Given the description of an element on the screen output the (x, y) to click on. 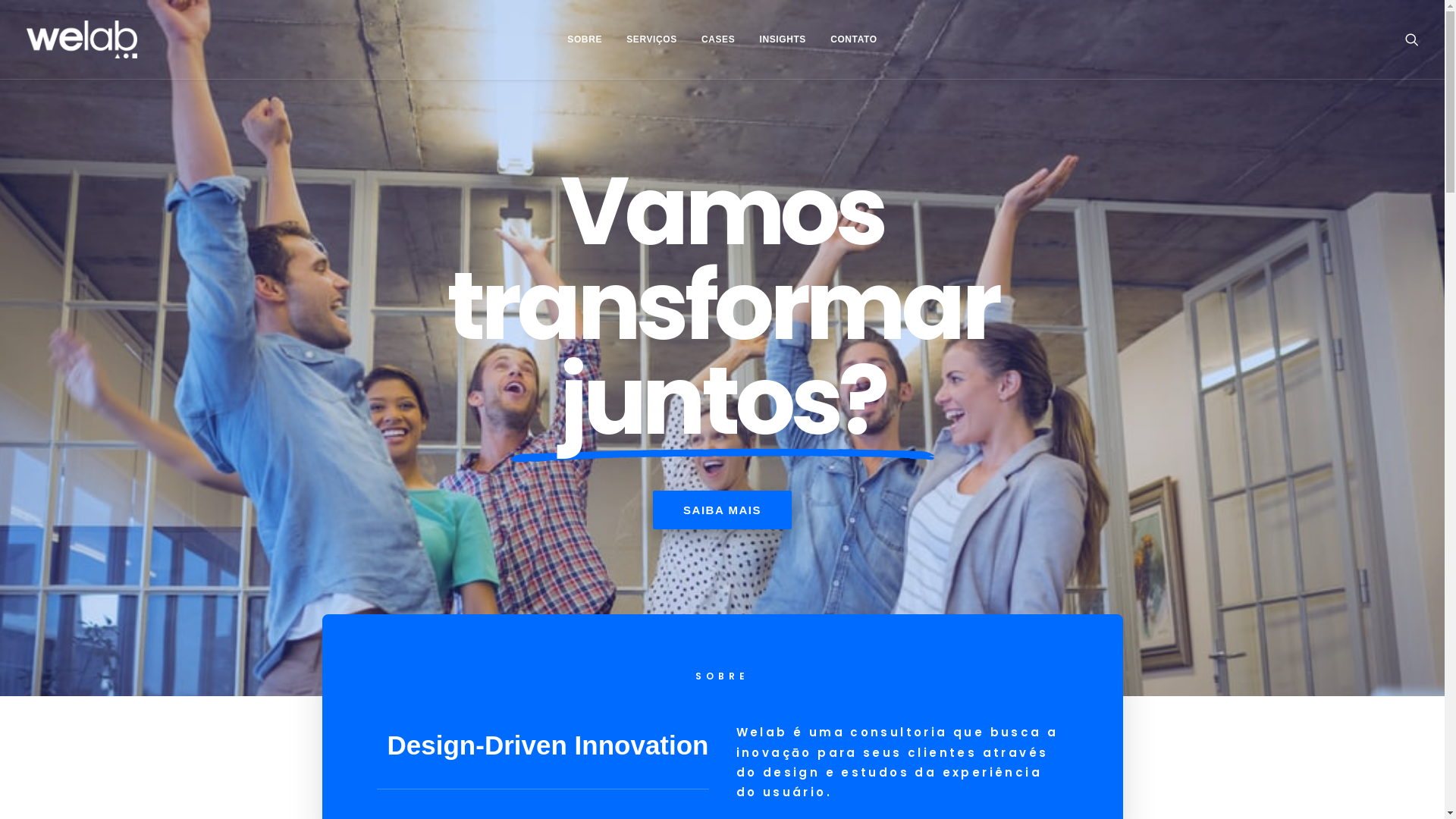
CONTATO Element type: text (853, 39)
SOBRE Element type: text (584, 39)
SAIBA MAIS Element type: text (721, 509)
CASES Element type: text (717, 39)
INSIGHTS Element type: text (781, 39)
